Given the description of an element on the screen output the (x, y) to click on. 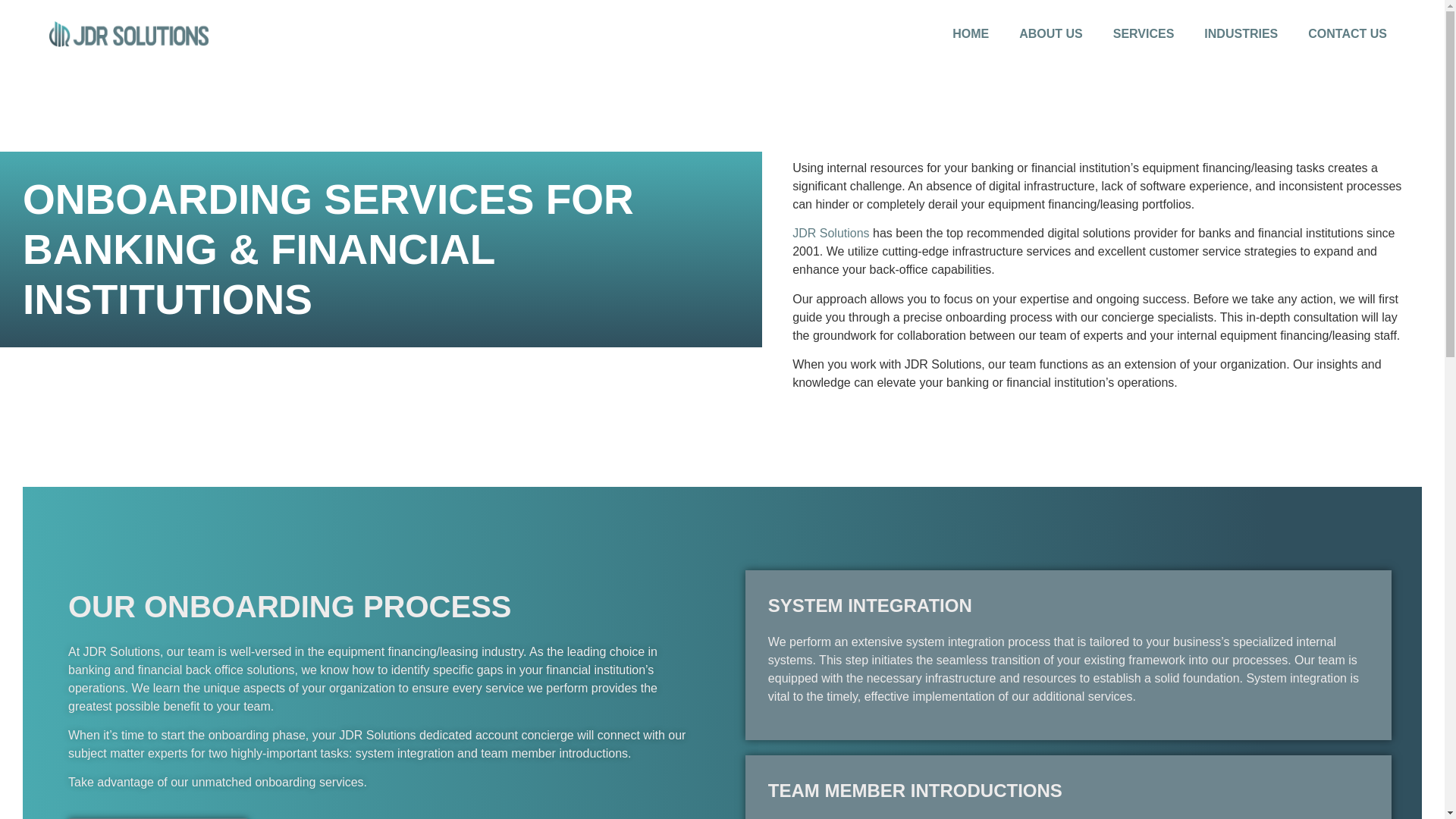
ABOUT US (1050, 33)
CONTACT US (1347, 33)
HOME (970, 33)
INDUSTRIES (1240, 33)
SERVICES (1143, 33)
